Given the description of an element on the screen output the (x, y) to click on. 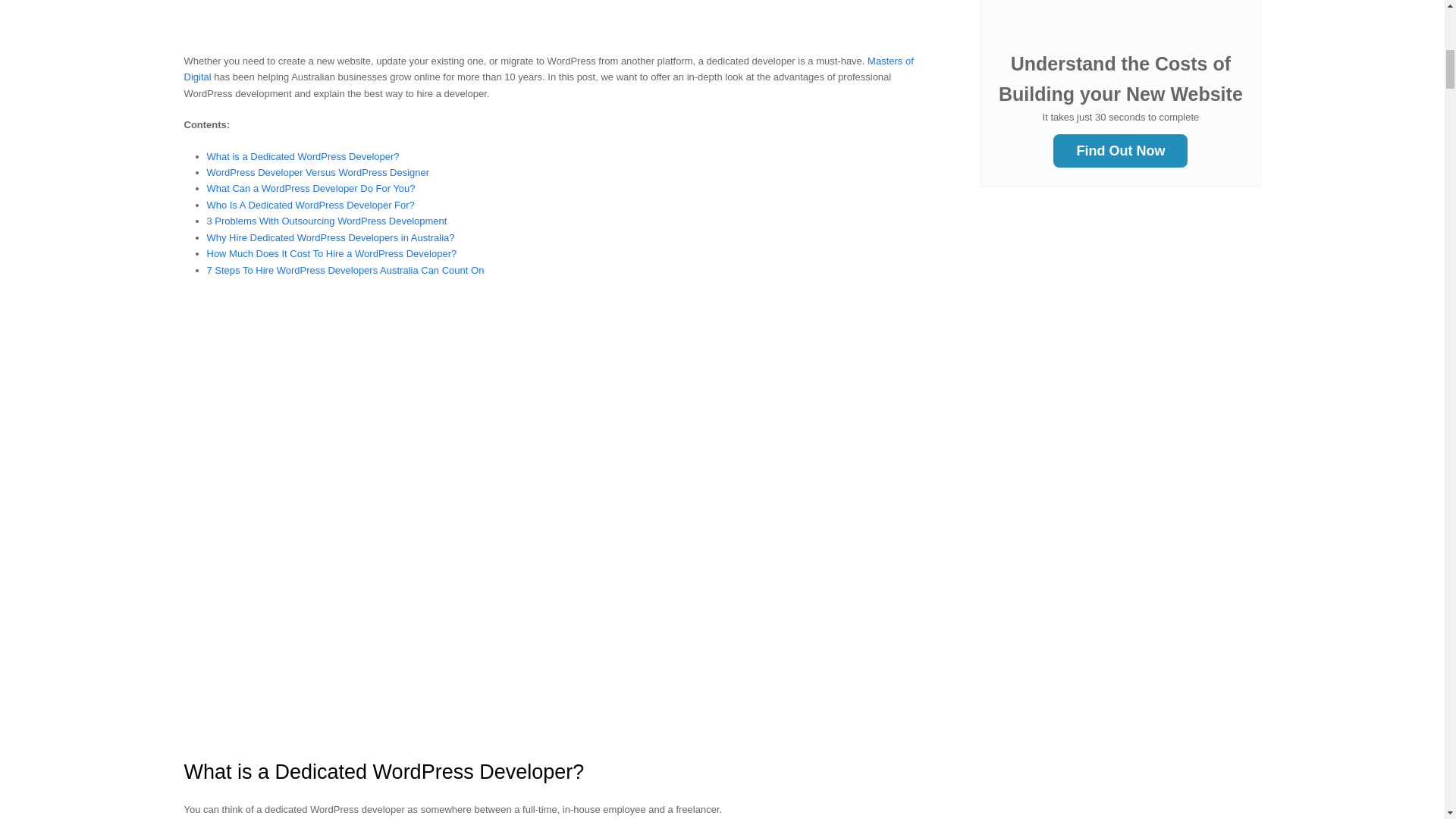
3 Problems With Outsourcing WordPress Development (326, 220)
How Much Does It Cost To Hire a WordPress Developer? (331, 253)
Who Is A Dedicated WordPress Developer For? (309, 204)
Masters of Digital (547, 68)
7 Steps To Hire WordPress Developers Australia Can Count On (344, 270)
What is a Dedicated WordPress Developer? (302, 156)
WordPress Developer Versus WordPress Designer (317, 172)
Why Hire Dedicated WordPress Developers in Australia? (330, 237)
What Can a WordPress Developer Do For You? (310, 188)
